Given the description of an element on the screen output the (x, y) to click on. 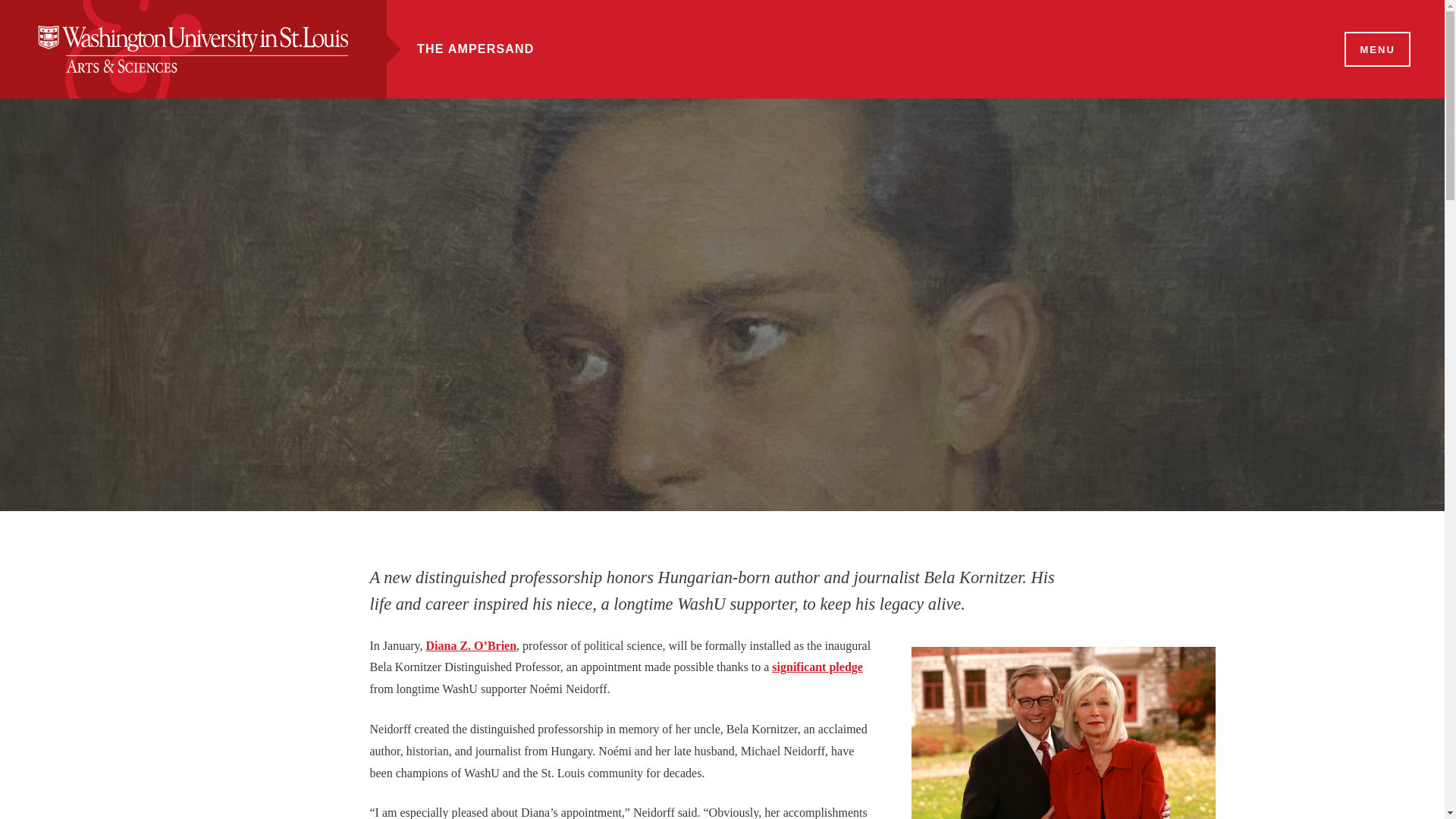
MENU (1376, 49)
THE AMPERSAND (475, 48)
